Given the description of an element on the screen output the (x, y) to click on. 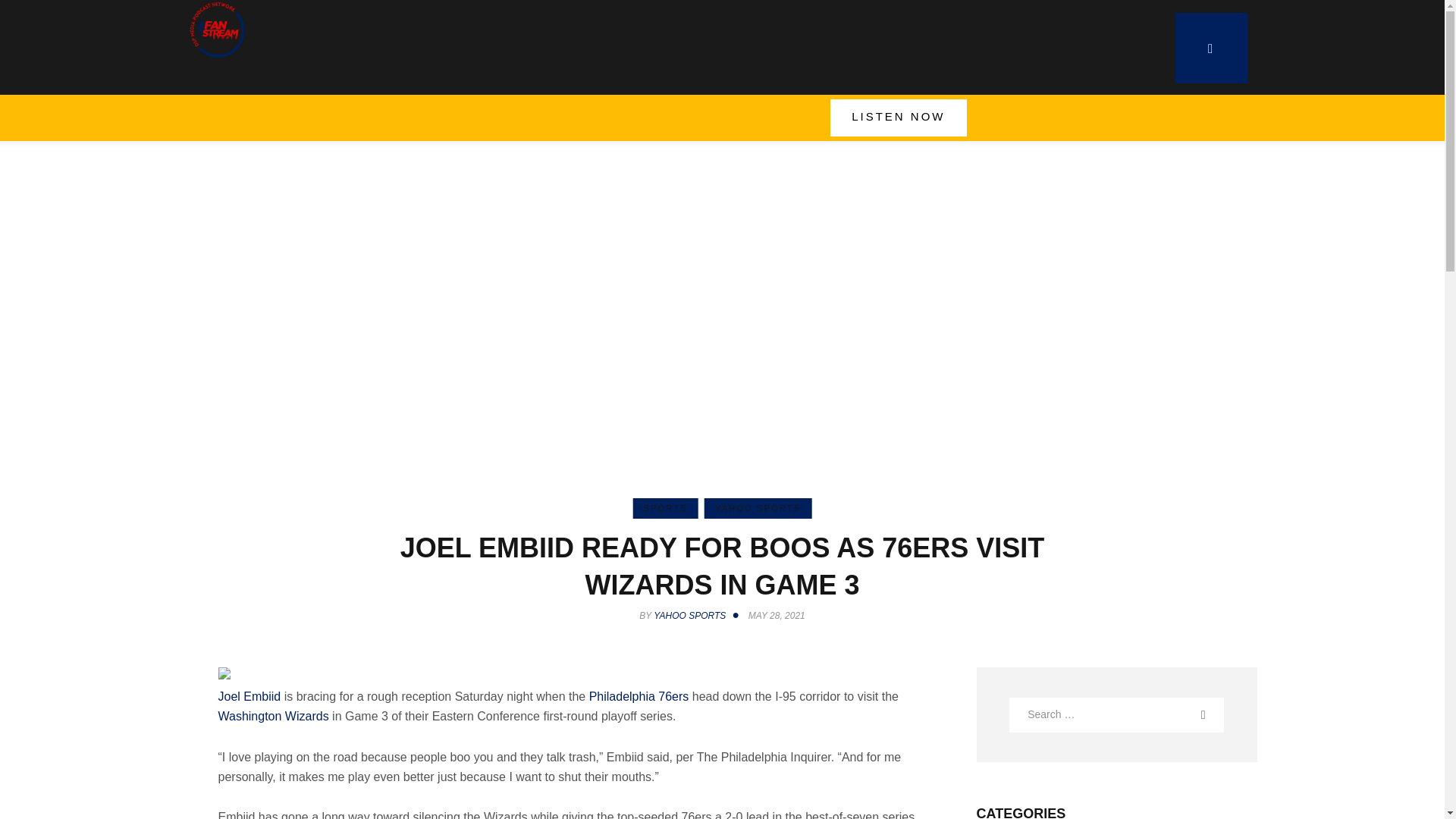
YAHOO SPORTS (757, 507)
LISTEN NOW (897, 117)
BY YAHOO SPORTS (692, 615)
SPORTS (664, 507)
